Given the description of an element on the screen output the (x, y) to click on. 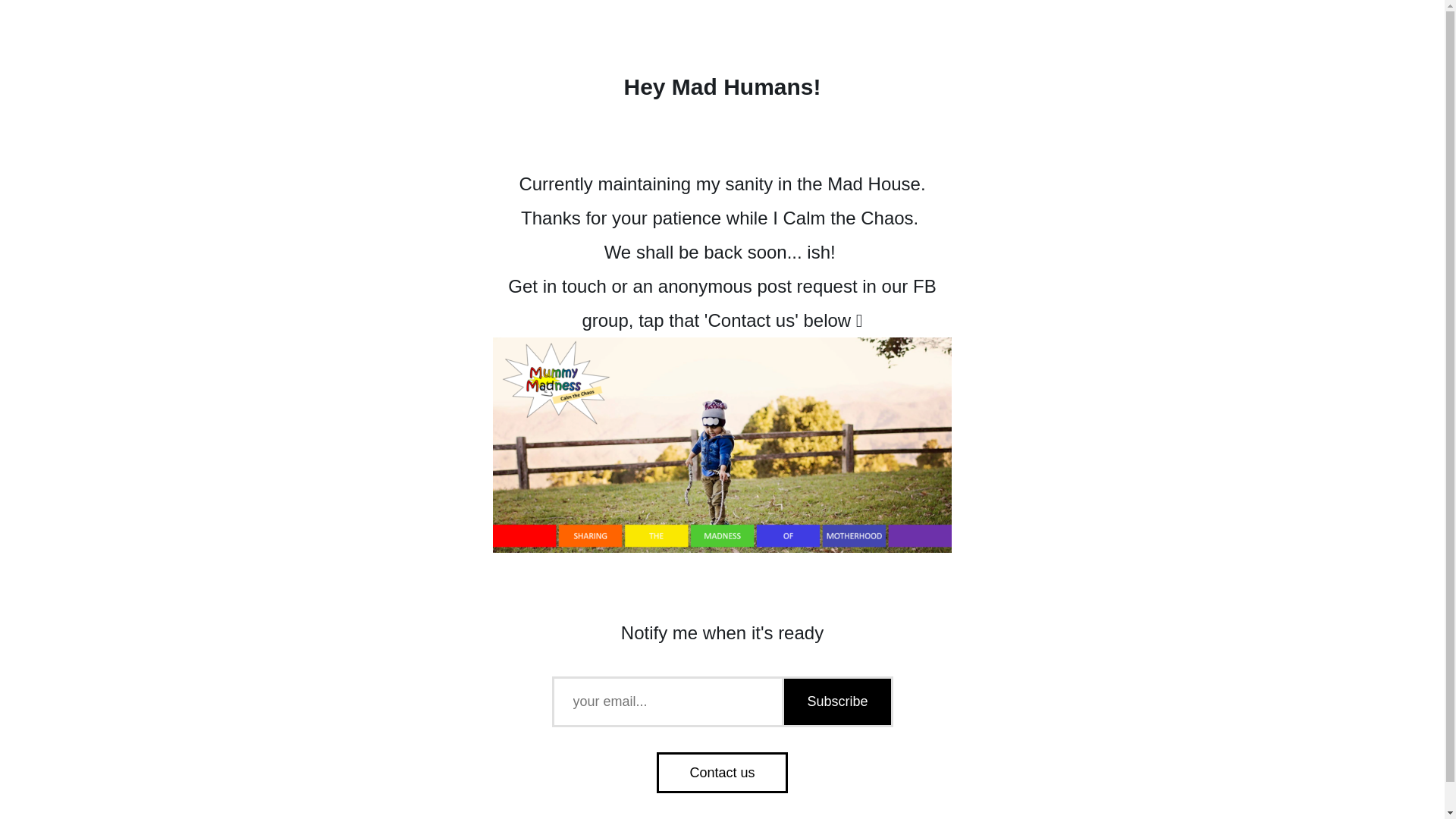
Contact us Element type: text (721, 772)
Subscribe Element type: text (835, 701)
